Given the description of an element on the screen output the (x, y) to click on. 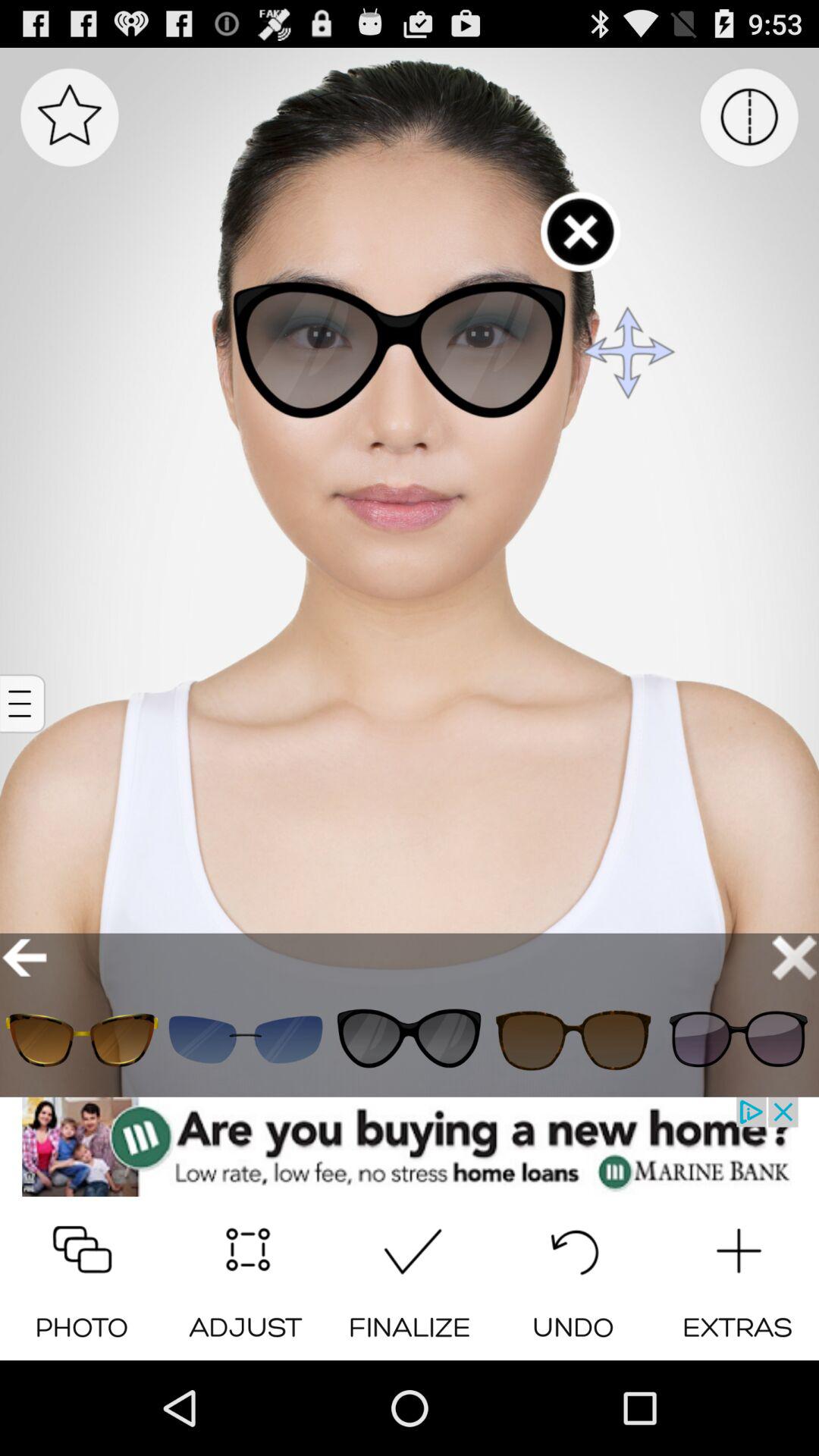
choose the sunclass (737, 1039)
